Given the description of an element on the screen output the (x, y) to click on. 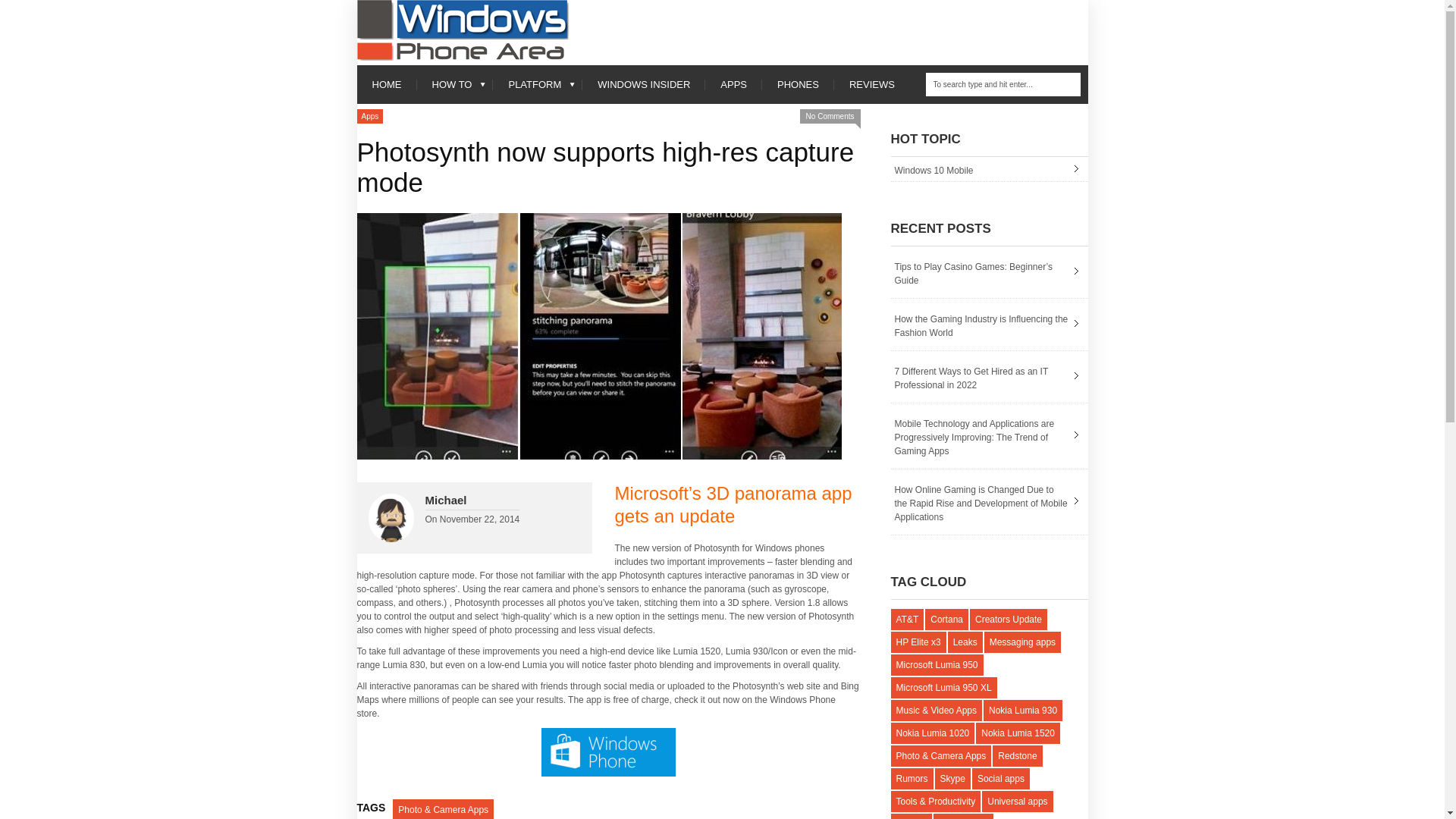
HOME (386, 84)
REVIEWS (872, 84)
PHONES (797, 84)
Michael (445, 499)
WINDOWS INSIDER (643, 84)
Posts by Michael (445, 499)
APPS (732, 84)
Apps (369, 115)
No Comments (829, 115)
To search type and hit enter... (1002, 84)
